Given the description of an element on the screen output the (x, y) to click on. 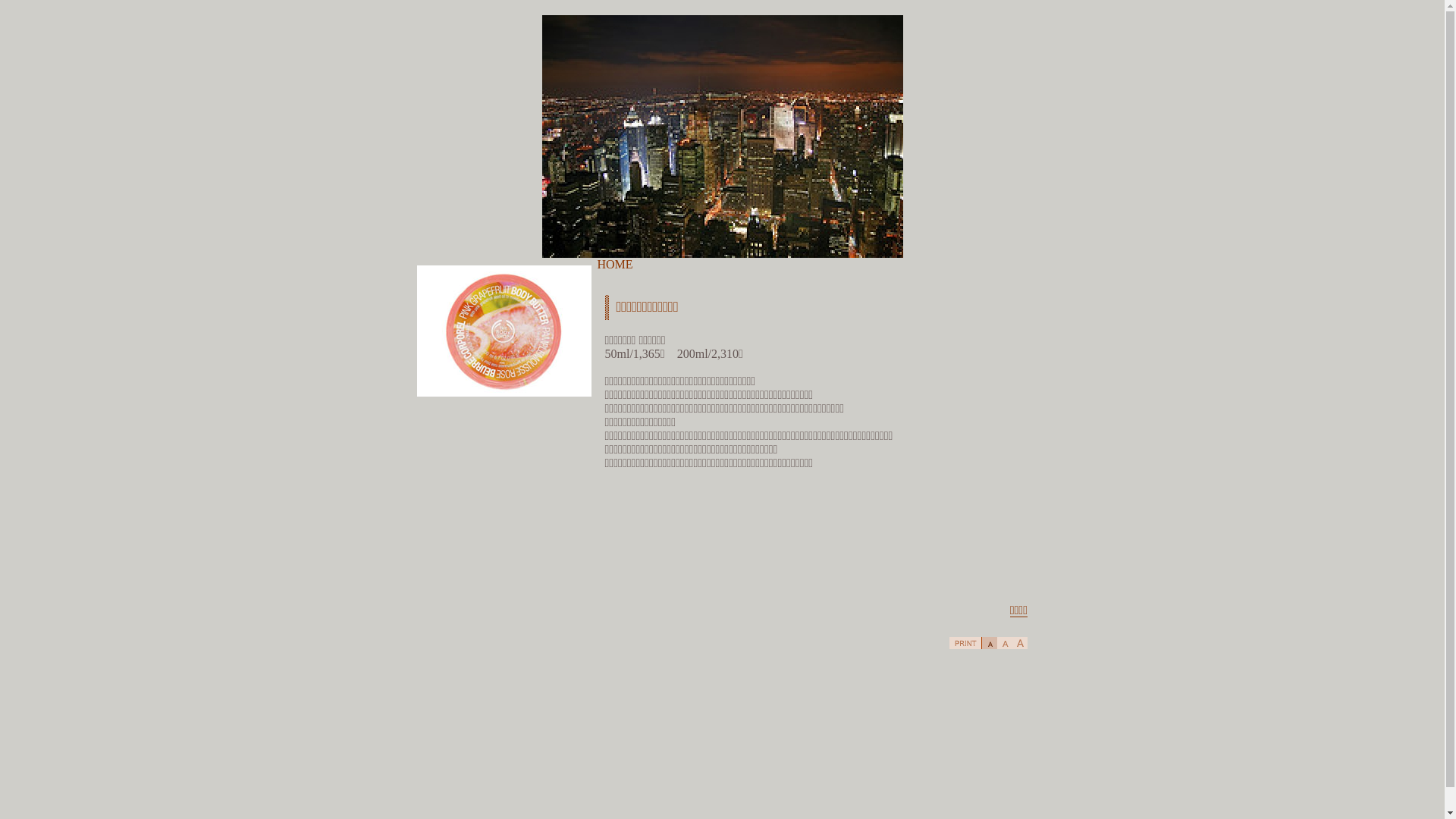
HOME Element type: text (615, 263)
